Given the description of an element on the screen output the (x, y) to click on. 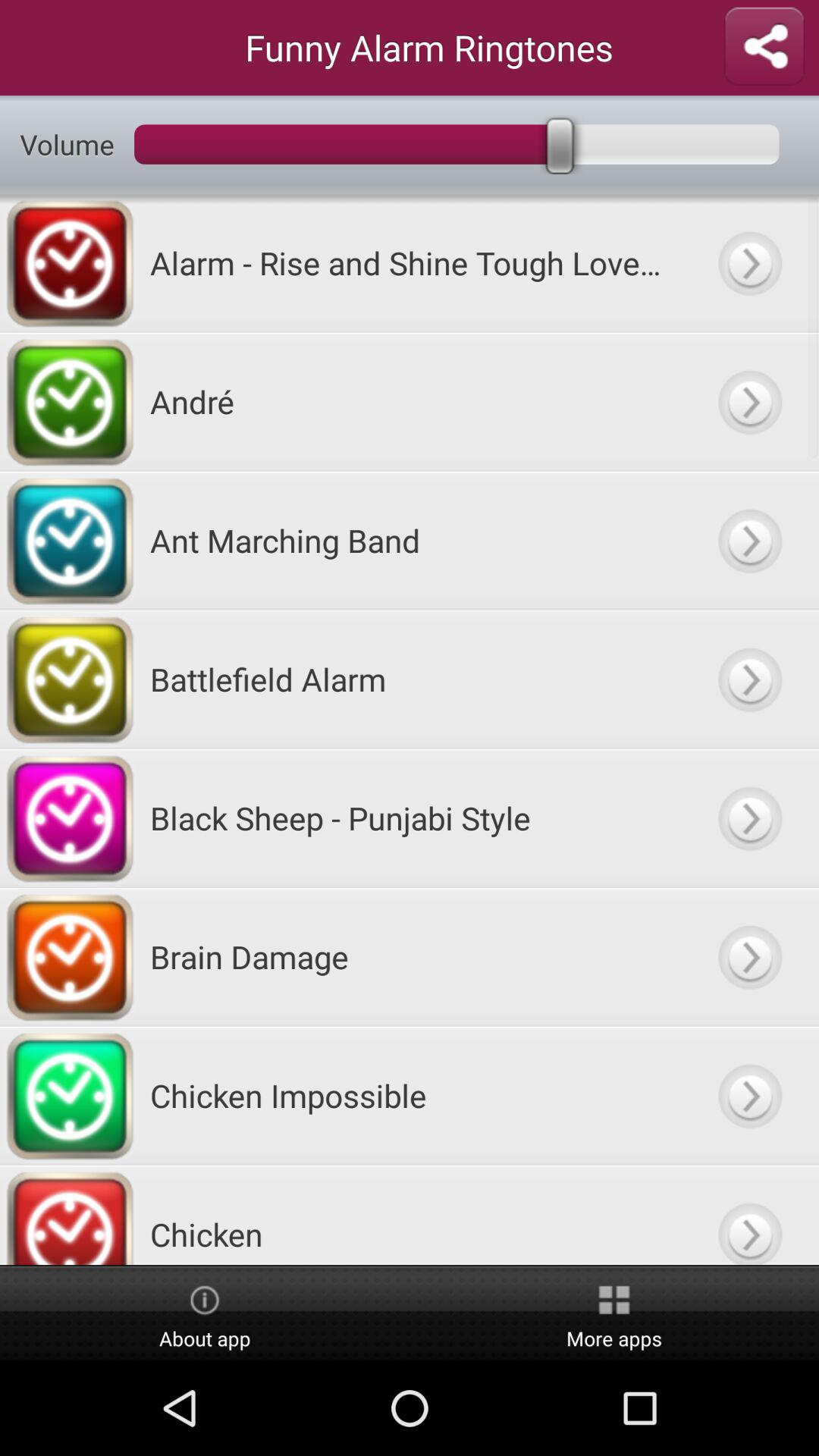
click the link (749, 1095)
